Given the description of an element on the screen output the (x, y) to click on. 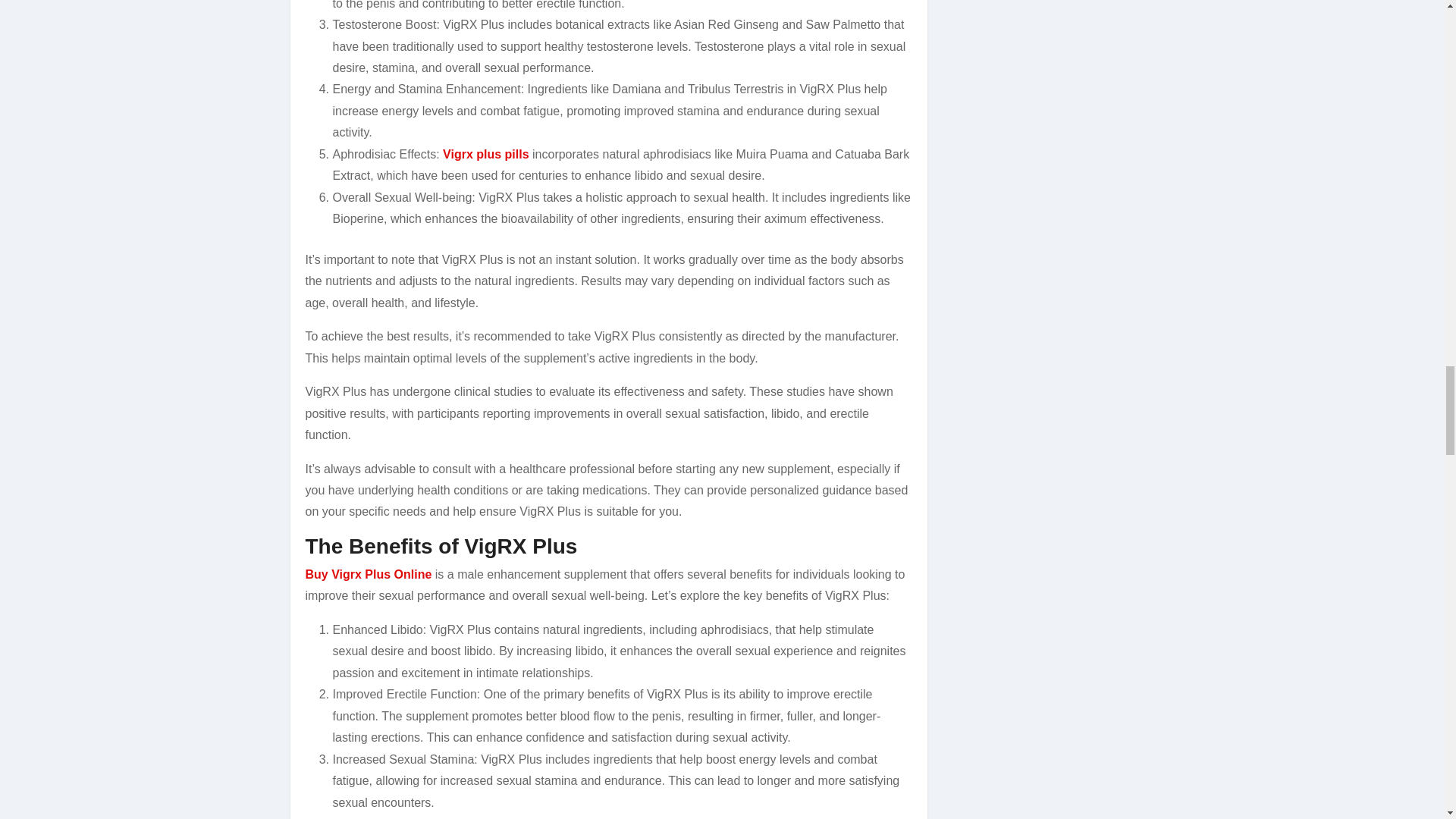
Buy Vigrx Plus Online (367, 574)
Vigrx plus pills (485, 154)
